Given the description of an element on the screen output the (x, y) to click on. 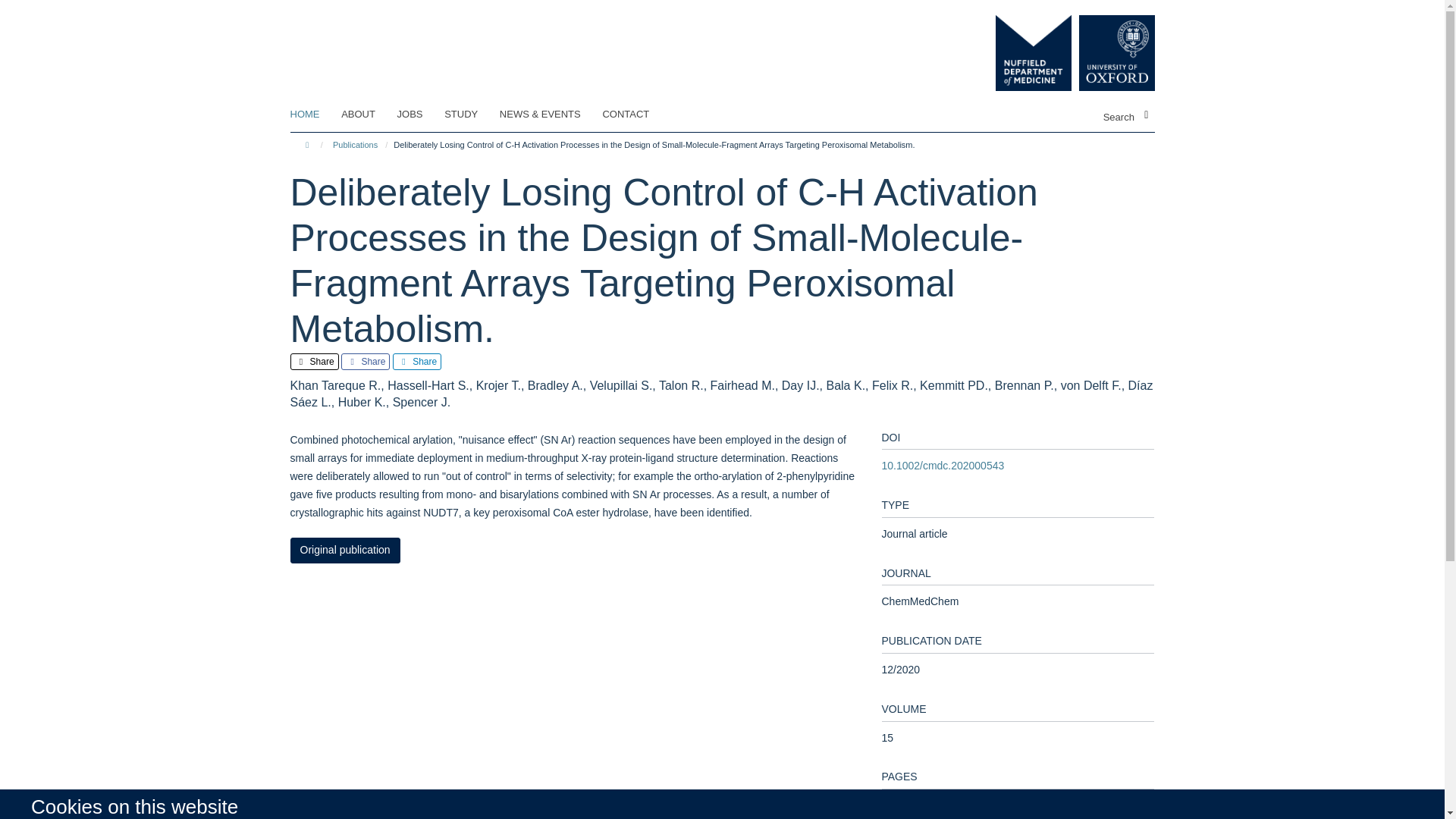
ABOUT (367, 114)
HOME (313, 114)
